Given the description of an element on the screen output the (x, y) to click on. 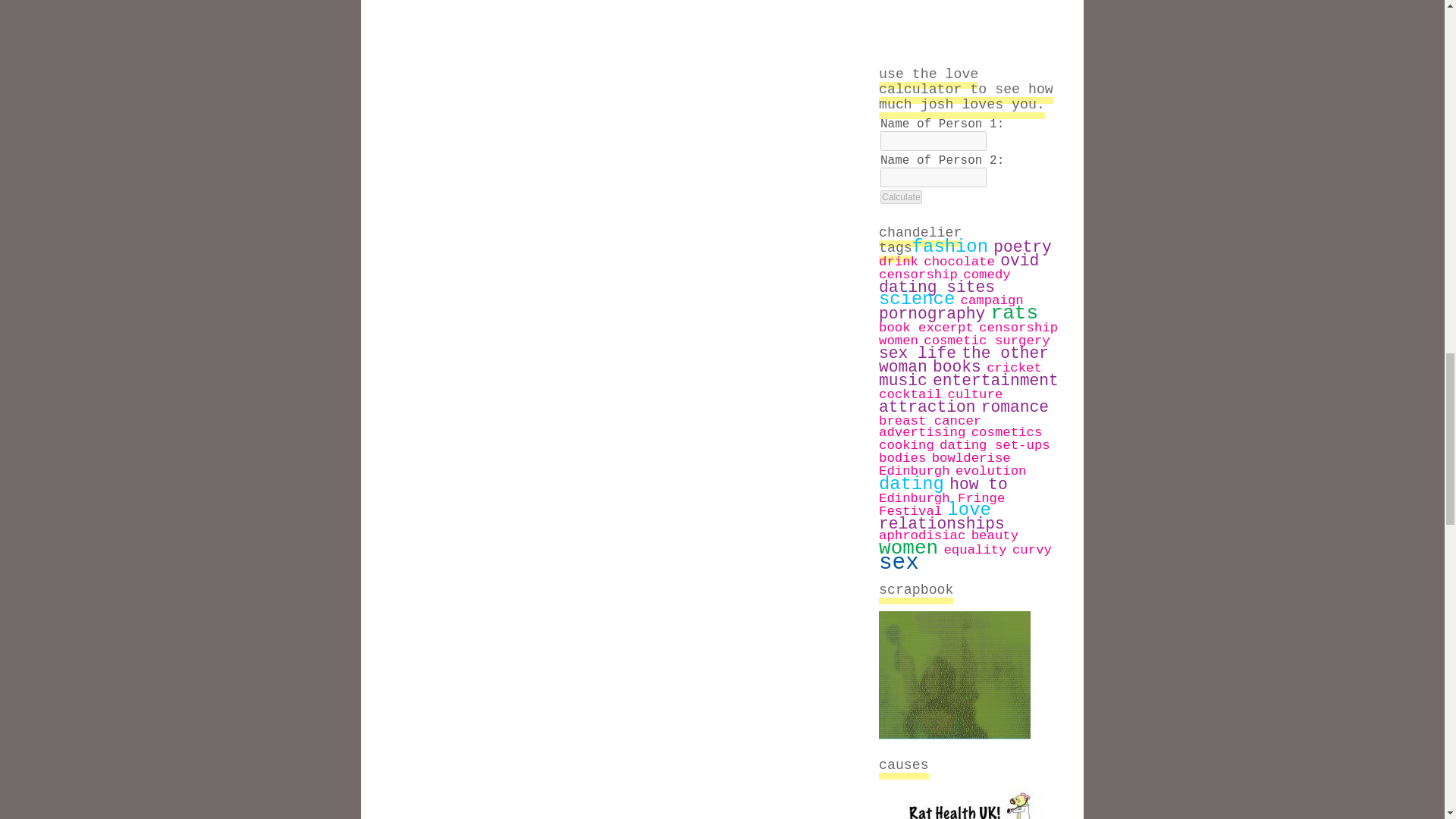
Calculate (900, 196)
